Given the description of an element on the screen output the (x, y) to click on. 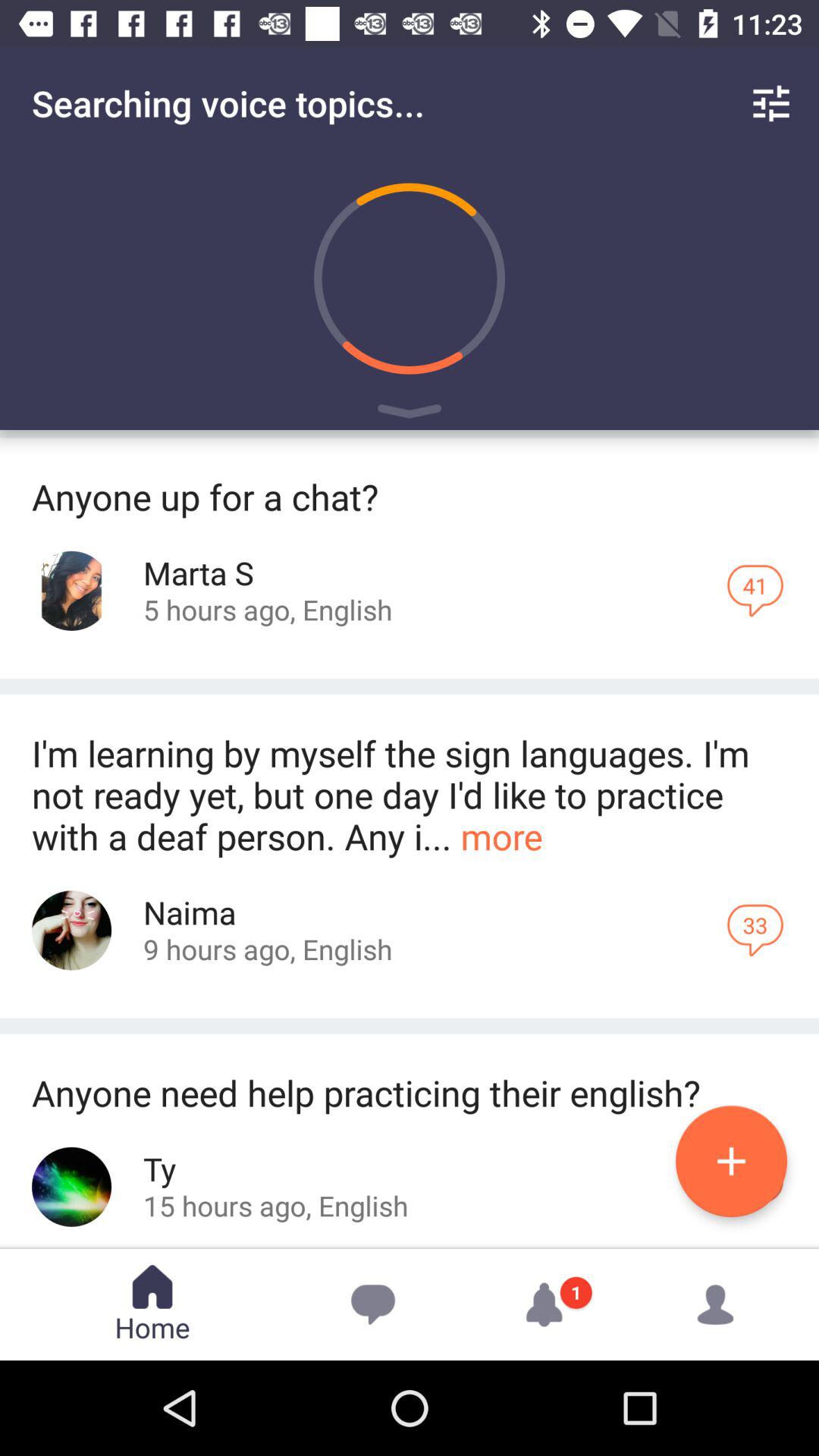
play symbol (409, 413)
